Given the description of an element on the screen output the (x, y) to click on. 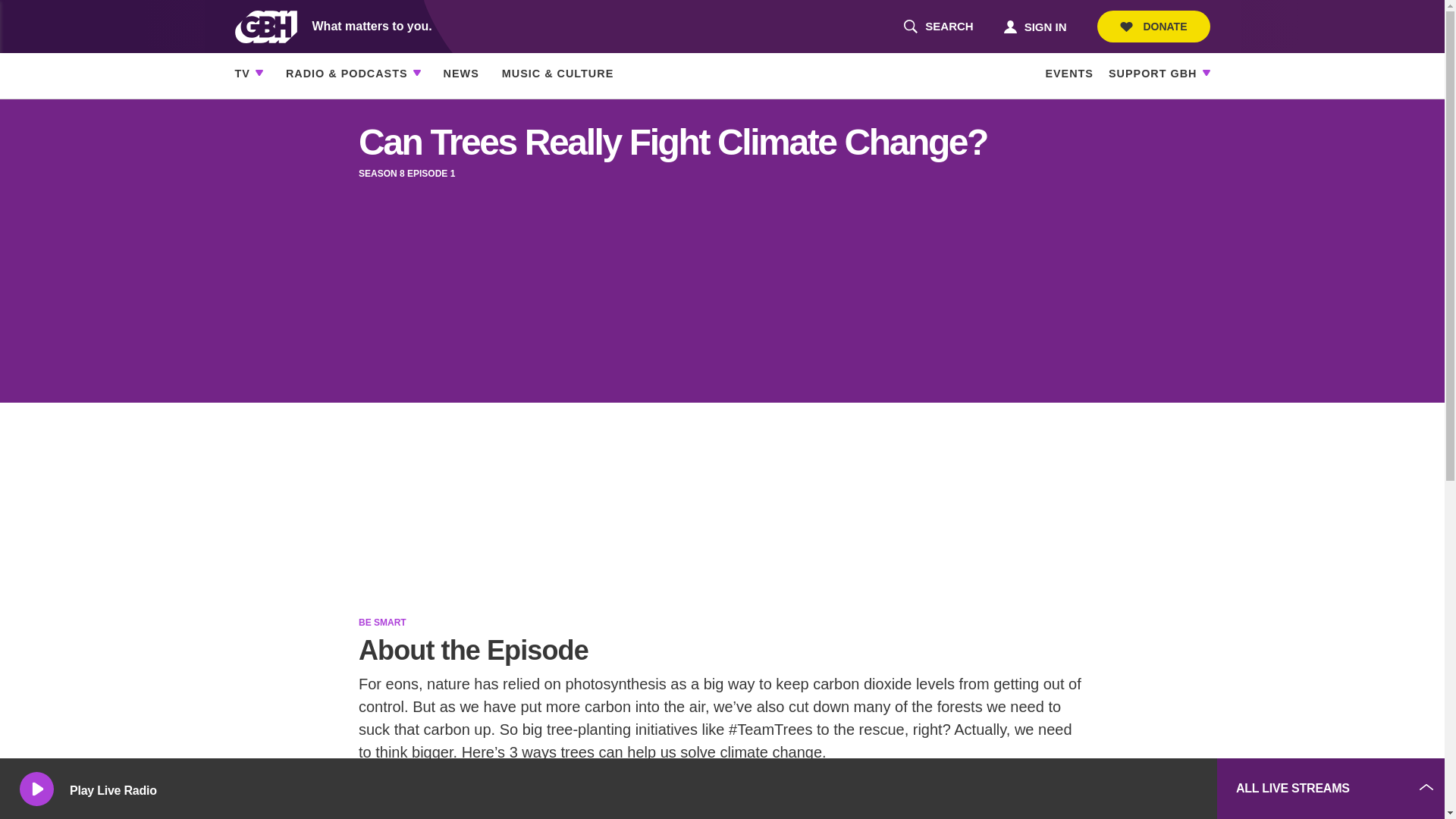
DONATE (1153, 26)
SIGN IN (937, 26)
